Given the description of an element on the screen output the (x, y) to click on. 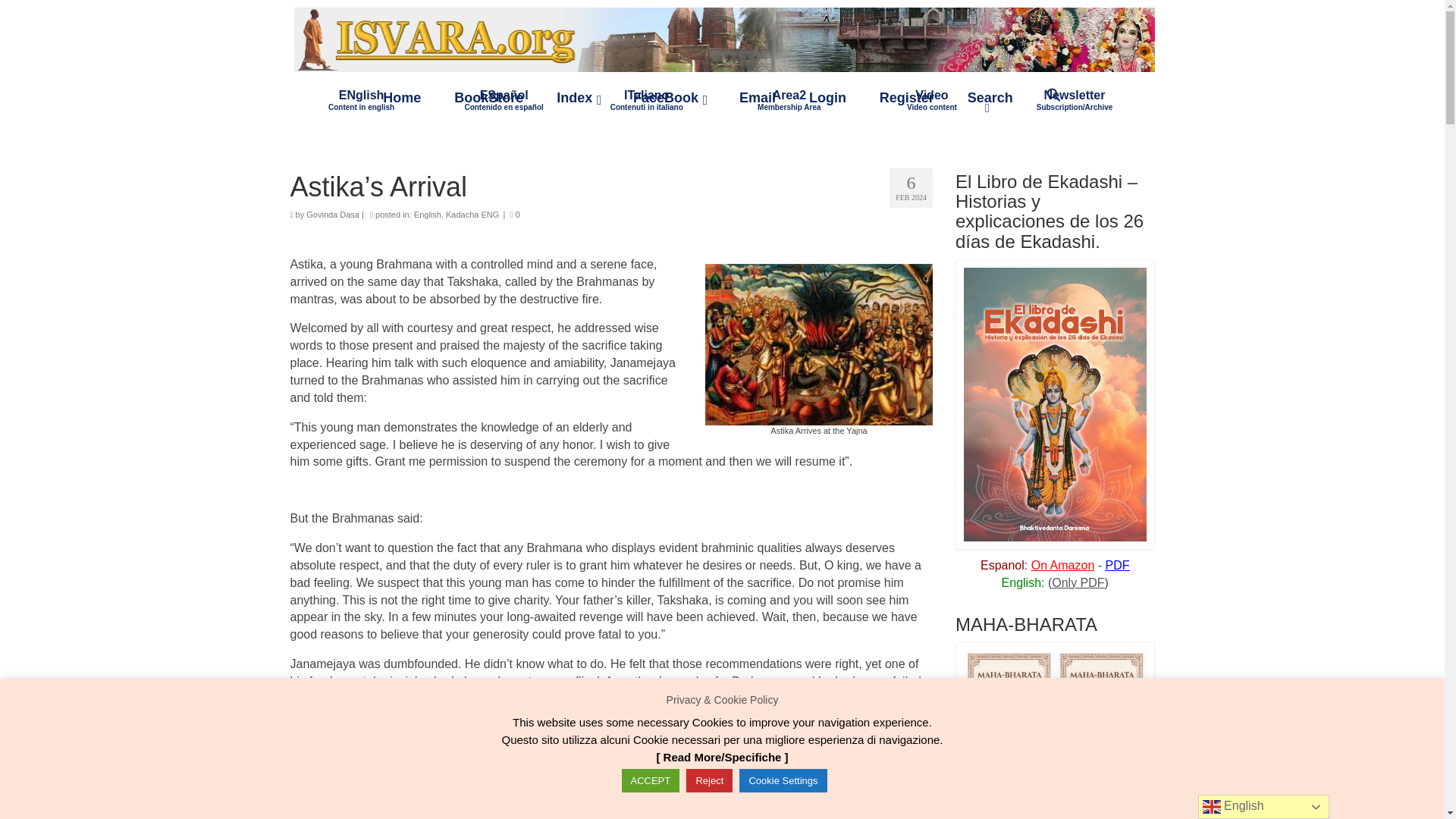
Index (577, 97)
Search (989, 97)
Email (756, 97)
Vedic Library (646, 99)
BookStore (724, 39)
FaceBook (488, 97)
Register (668, 97)
Login (788, 99)
Home (360, 99)
